Given the description of an element on the screen output the (x, y) to click on. 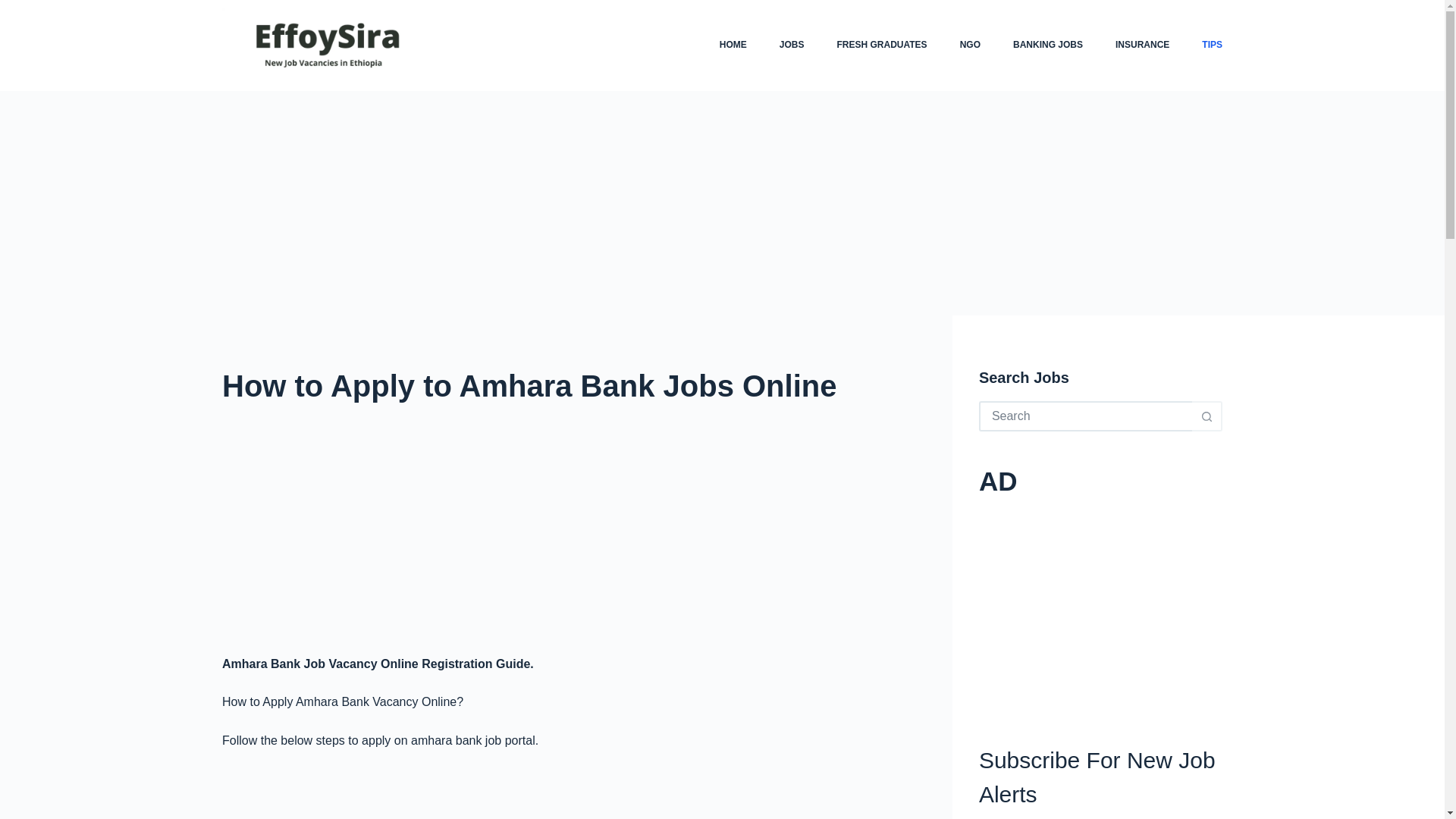
NGO (969, 45)
FRESH GRADUATES (882, 45)
How to Apply to Amhara Bank Jobs Online (567, 385)
Advertisement (1100, 611)
Advertisement (567, 794)
HOME (732, 45)
Skip to content (15, 7)
TIPS (1204, 45)
Search for... (1085, 416)
